Given the description of an element on the screen output the (x, y) to click on. 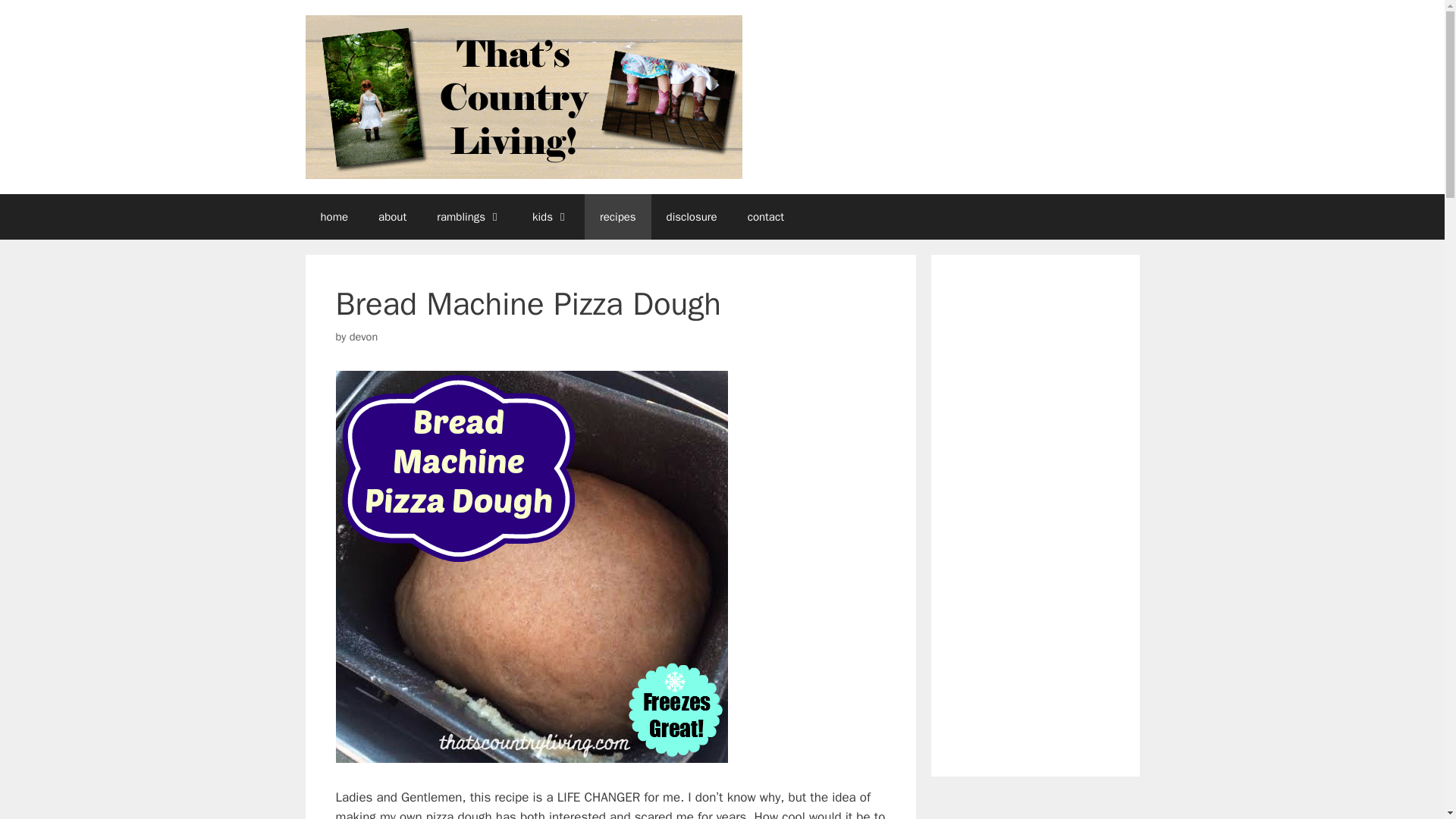
View all posts by devon (363, 336)
about (392, 216)
Advertisement (1021, 512)
devon (363, 336)
disclosure (691, 216)
contact (765, 216)
kids (550, 216)
ramblings (469, 216)
recipes (617, 216)
home (333, 216)
